Given the description of an element on the screen output the (x, y) to click on. 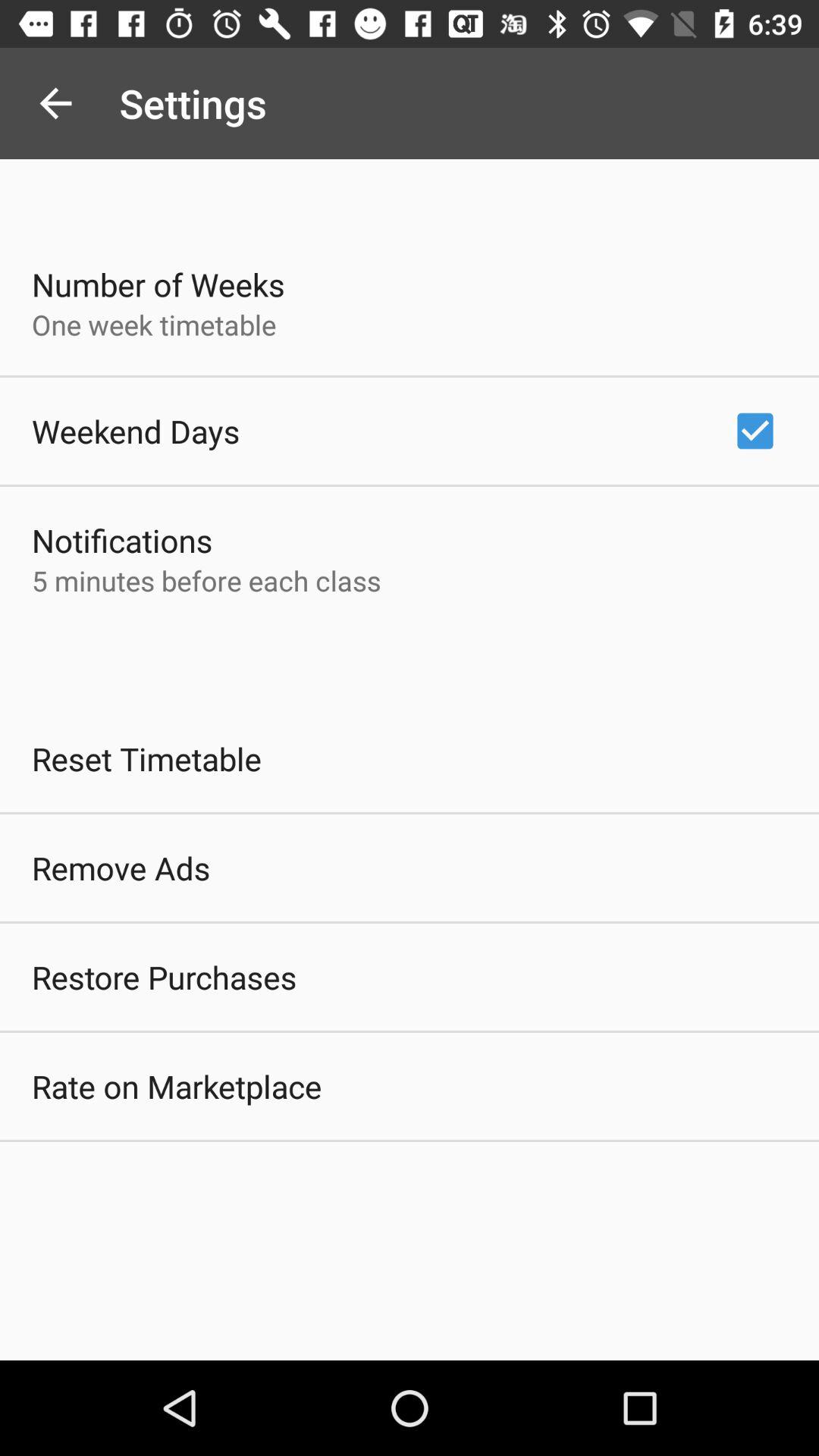
tap item below the 5 minutes before app (146, 758)
